Given the description of an element on the screen output the (x, y) to click on. 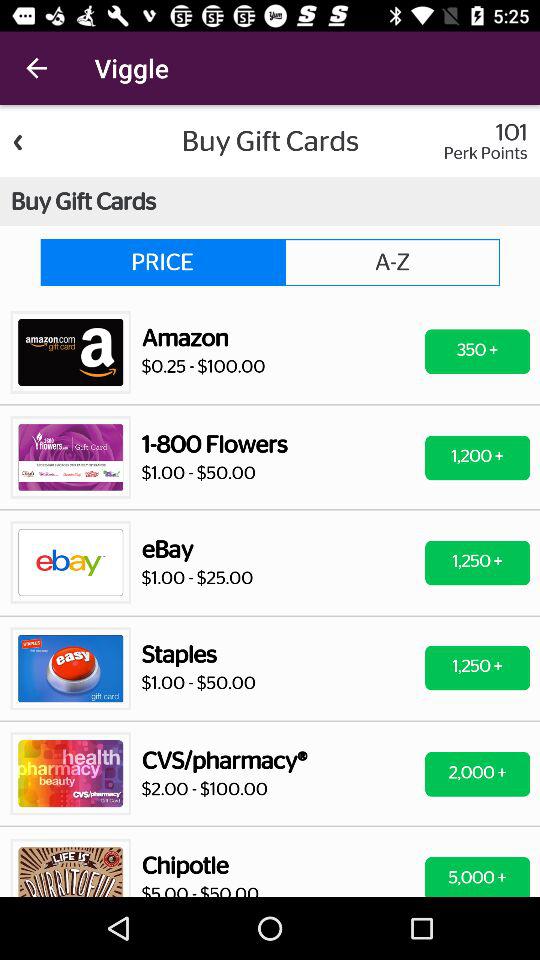
buy gift card options (270, 501)
